Given the description of an element on the screen output the (x, y) to click on. 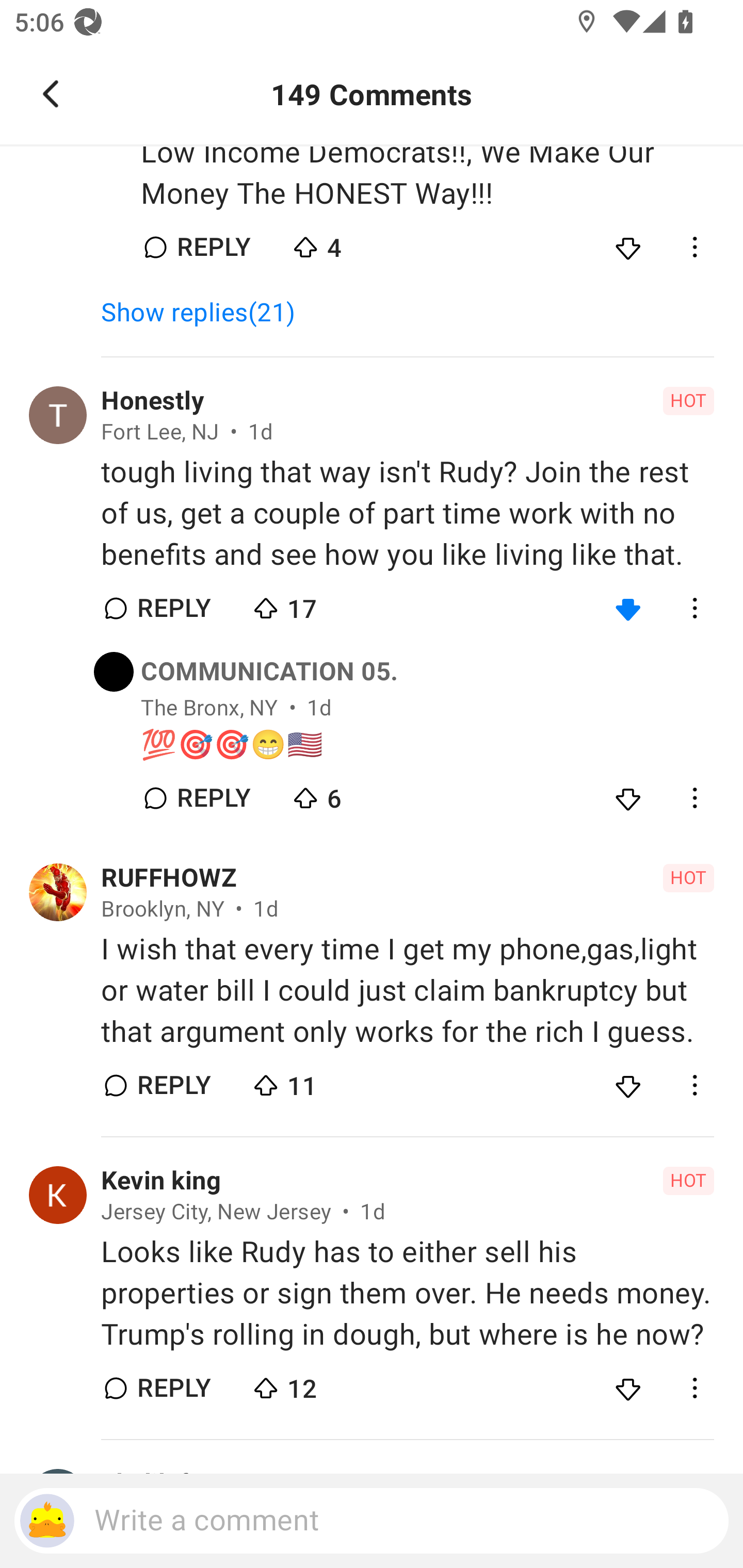
Navigate up (50, 93)
4 (360, 242)
REPLY (213, 246)
Show replies(21) (207, 312)
Honestly (152, 400)
17 (320, 604)
REPLY (173, 608)
COMMUNICATION 05. (269, 671)
💯🎯🎯😁🇺🇸 (427, 744)
6 (360, 794)
REPLY (213, 797)
RUFFHOWZ (169, 877)
11 (320, 1080)
REPLY (173, 1085)
Kevin king (160, 1180)
12 (320, 1383)
REPLY (173, 1388)
Write a comment (371, 1520)
